Given the description of an element on the screen output the (x, y) to click on. 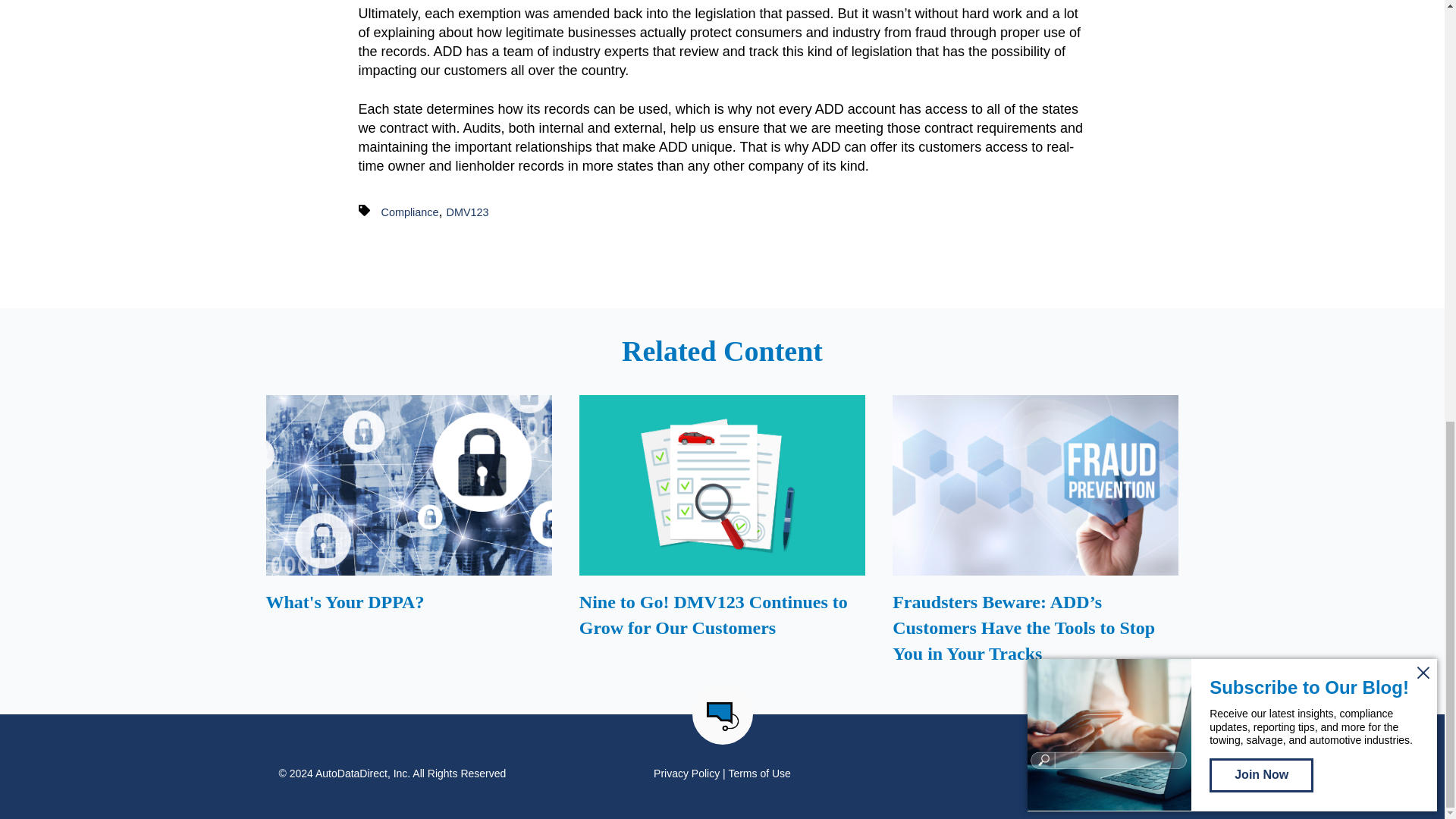
What's Your DPPA? (407, 534)
Compliance (410, 212)
Privacy Policy (686, 773)
DMV123 (467, 212)
Nine to Go! DMV123 Continues to Grow for Our Customers (722, 534)
Facebook (1106, 773)
LinkedIn (1151, 773)
Terms of Use (759, 773)
Twitter (1129, 773)
ADD-Bug (722, 716)
